Given the description of an element on the screen output the (x, y) to click on. 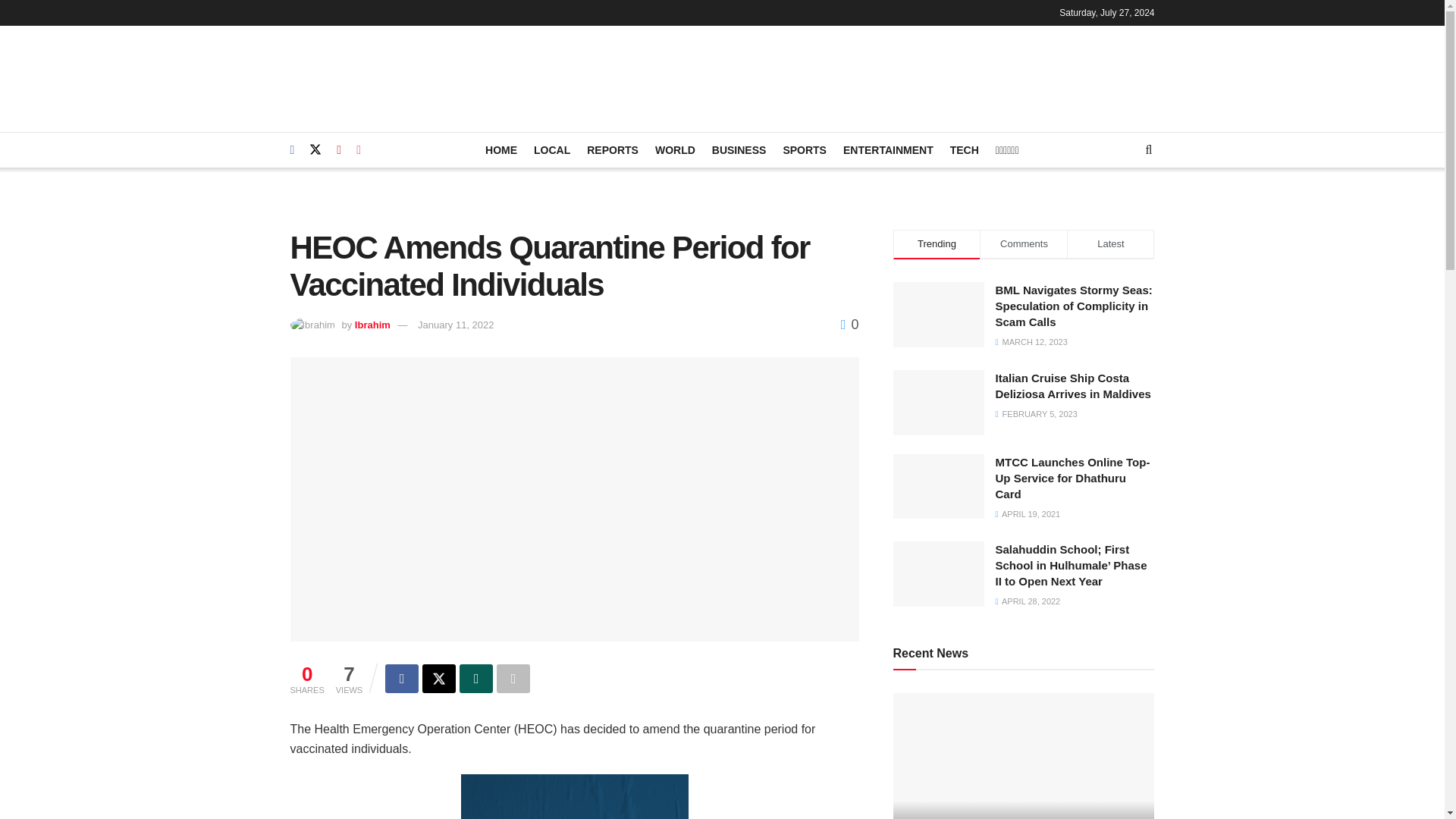
SPORTS (805, 149)
HOME (500, 149)
REPORTS (612, 149)
ENTERTAINMENT (888, 149)
TECH (964, 149)
WORLD (675, 149)
Ibrahim (372, 324)
January 11, 2022 (455, 324)
BUSINESS (739, 149)
0 (850, 324)
LOCAL (552, 149)
